Given the description of an element on the screen output the (x, y) to click on. 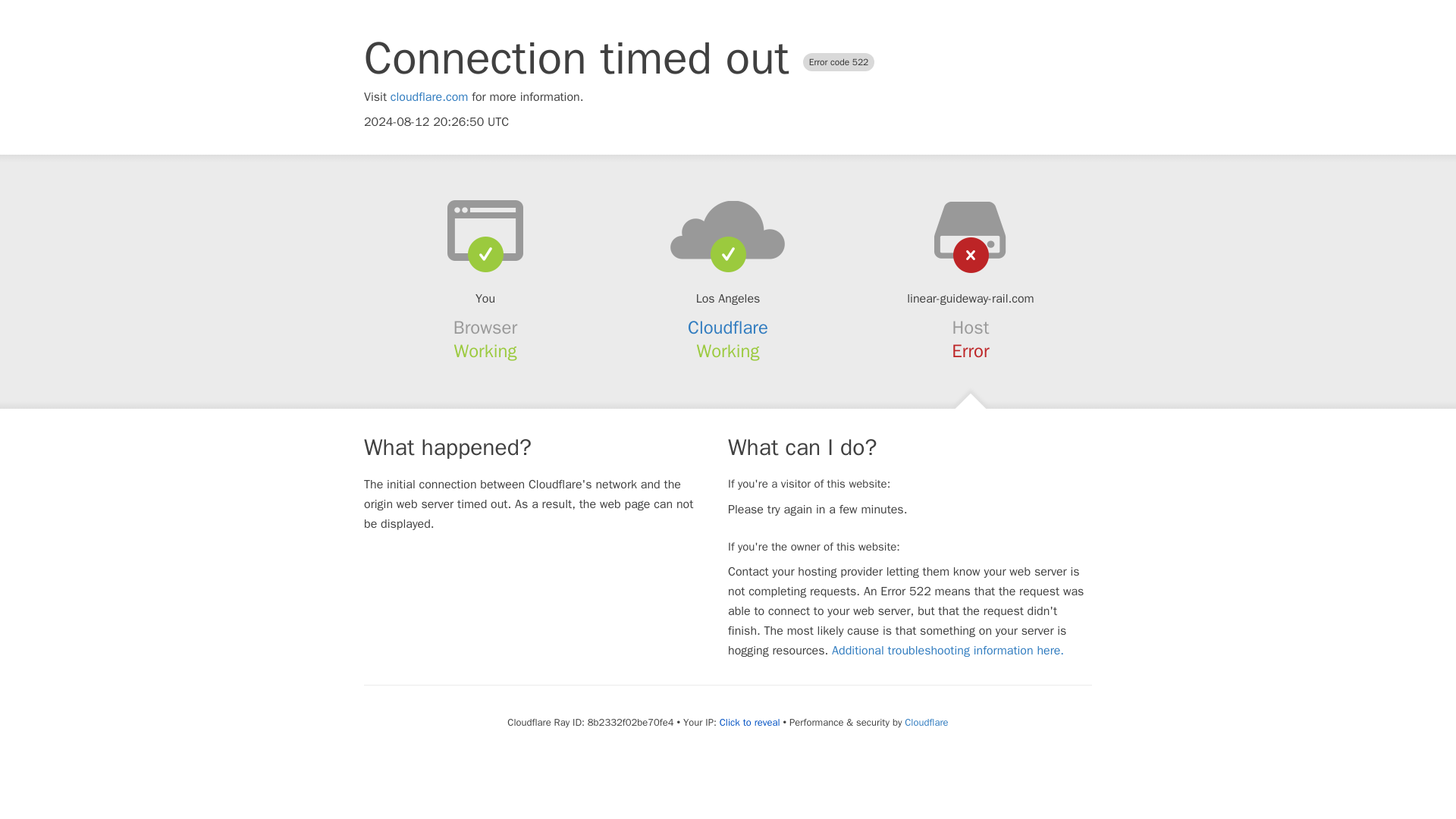
Additional troubleshooting information here. (947, 650)
cloudflare.com (429, 96)
Cloudflare (925, 721)
Click to reveal (749, 722)
Cloudflare (727, 327)
